Given the description of an element on the screen output the (x, y) to click on. 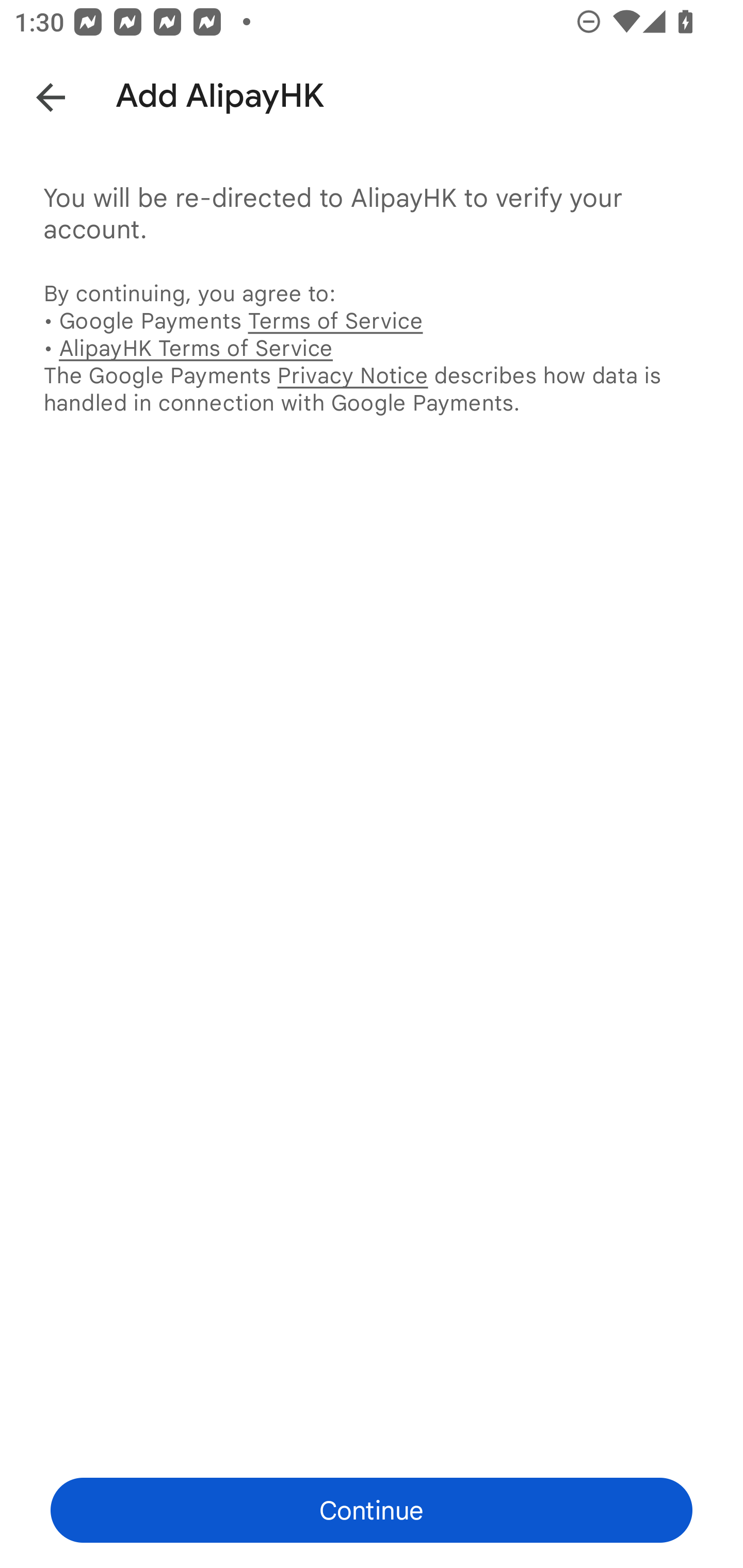
Back (36, 94)
Terms of Service (334, 320)
AlipayHK Terms of Service (195, 347)
Privacy Notice (352, 375)
Continue (371, 1510)
